Given the description of an element on the screen output the (x, y) to click on. 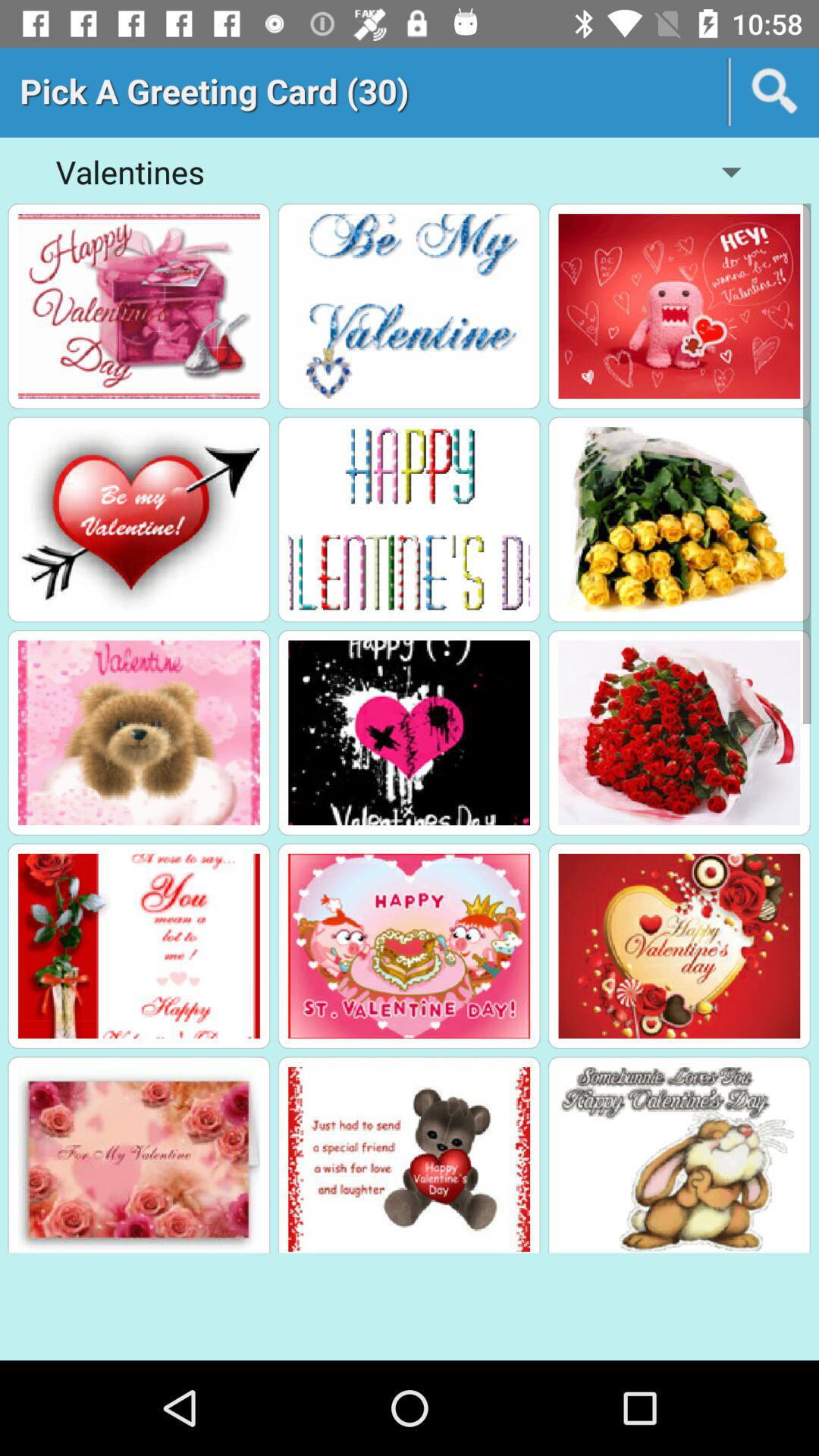
select to greeting card (679, 305)
